Given the description of an element on the screen output the (x, y) to click on. 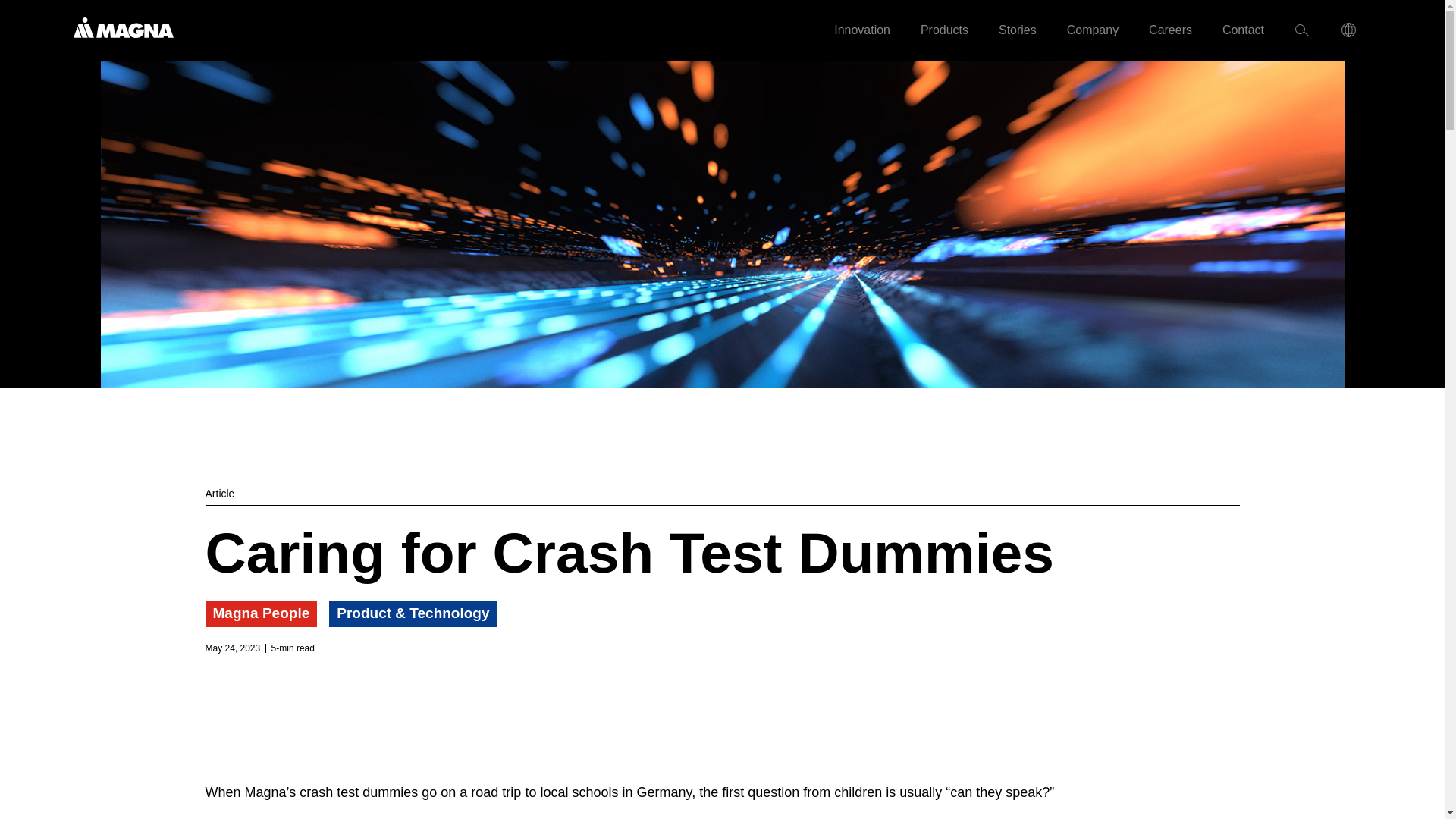
Stories (1017, 30)
Products (944, 30)
Innovation (861, 30)
